Given the description of an element on the screen output the (x, y) to click on. 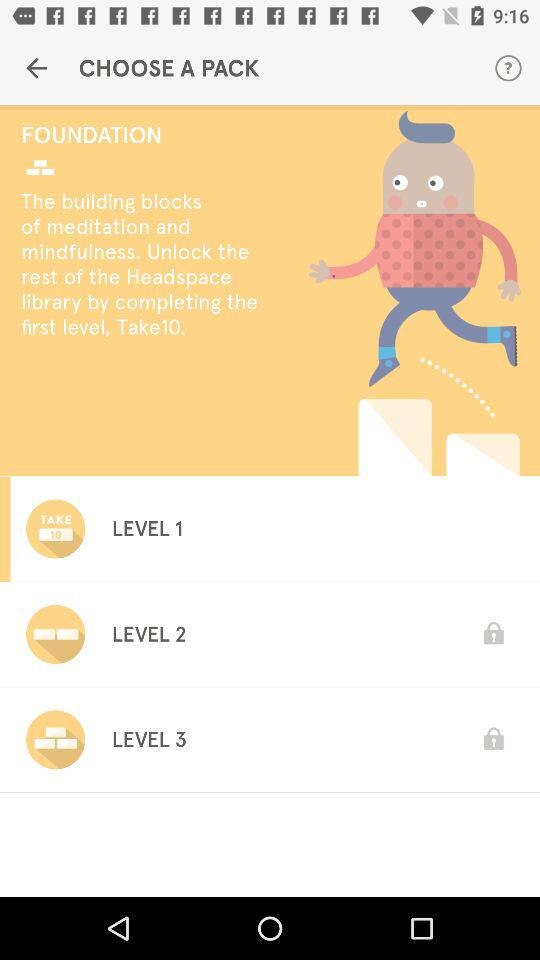
flip to the level 1 item (146, 528)
